Given the description of an element on the screen output the (x, y) to click on. 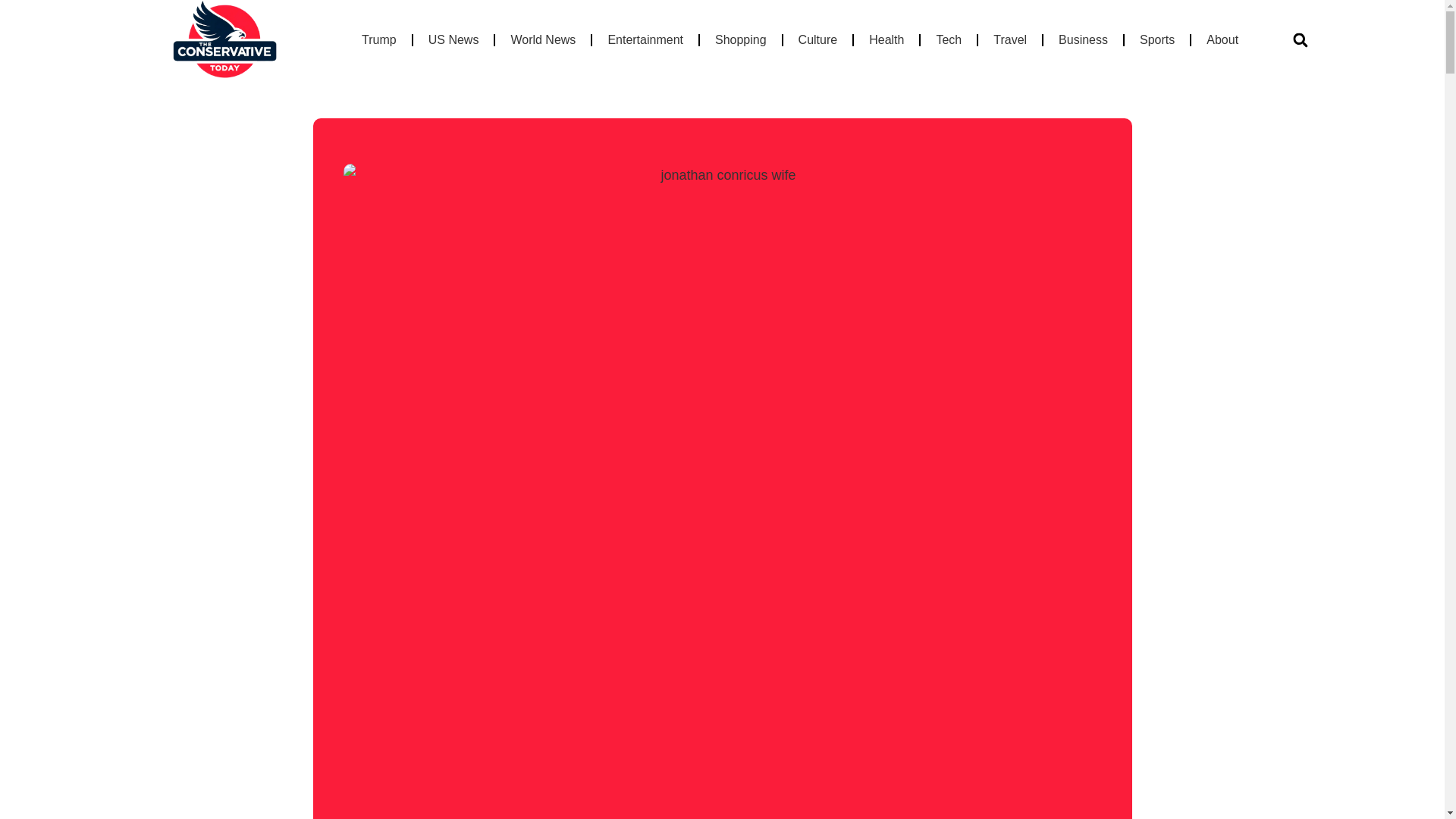
Business (1082, 39)
Culture (818, 39)
Trump (379, 39)
Travel (1010, 39)
Health (885, 39)
Shopping (740, 39)
Tech (948, 39)
US News (454, 39)
World News (543, 39)
About (1222, 39)
